Given the description of an element on the screen output the (x, y) to click on. 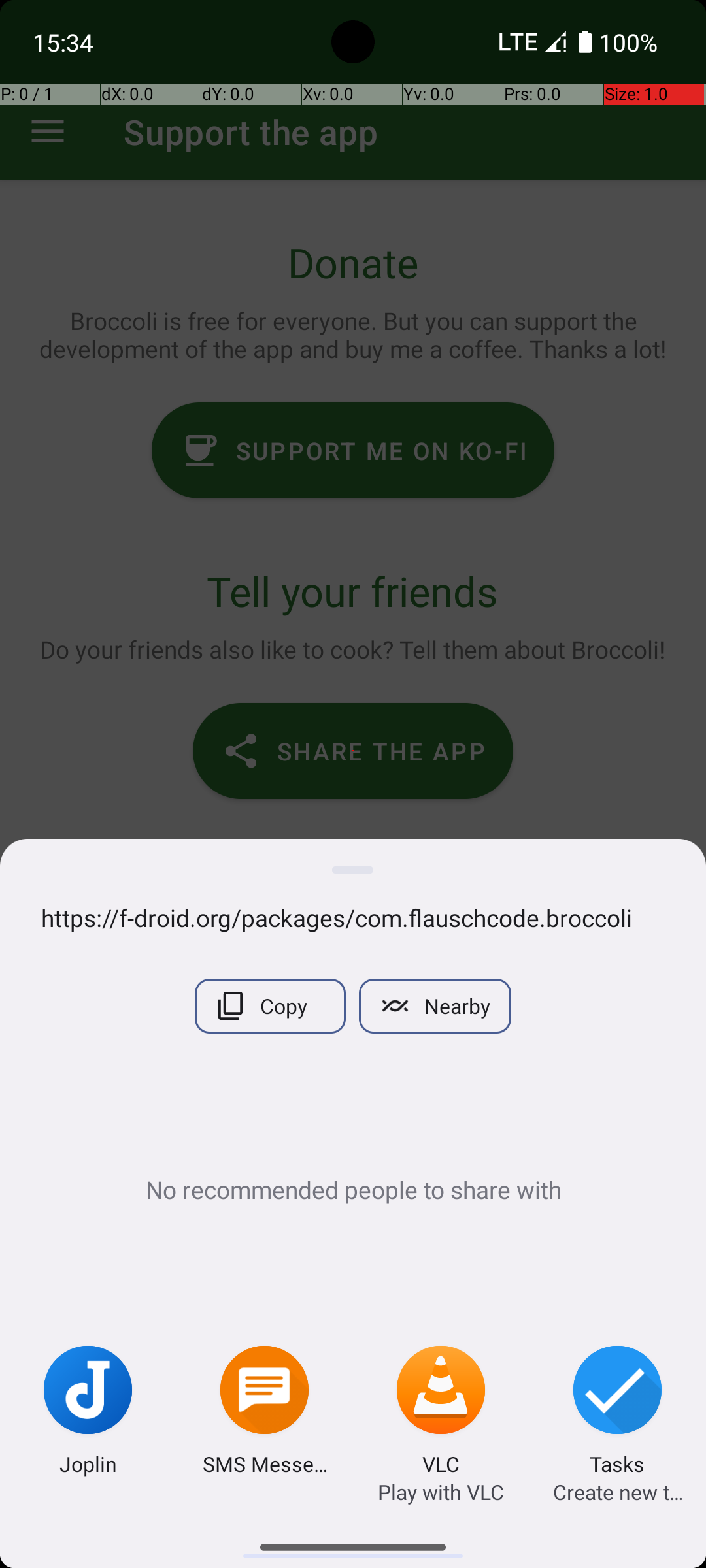
https://f-droid.org/packages/com.flauschcode.broccoli Element type: android.widget.TextView (352, 917)
Play with VLC Element type: android.widget.TextView (440, 1491)
